Given the description of an element on the screen output the (x, y) to click on. 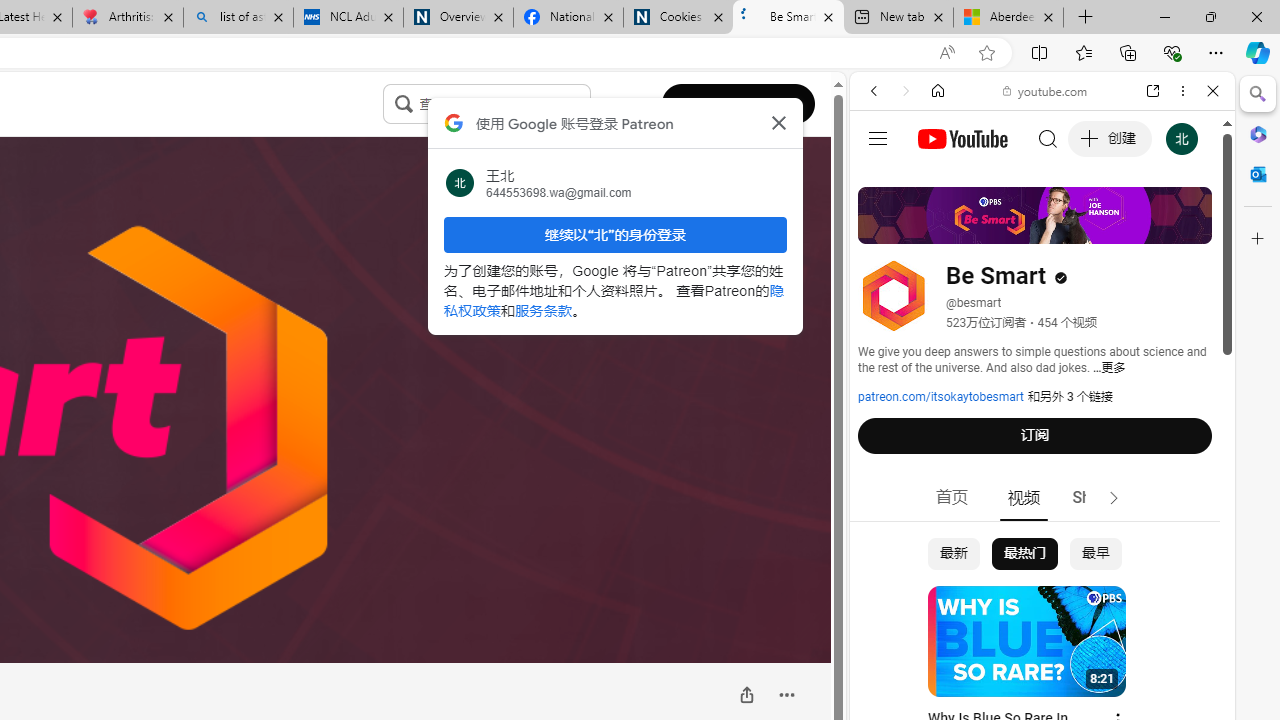
YouTube (1034, 296)
